Given the description of an element on the screen output the (x, y) to click on. 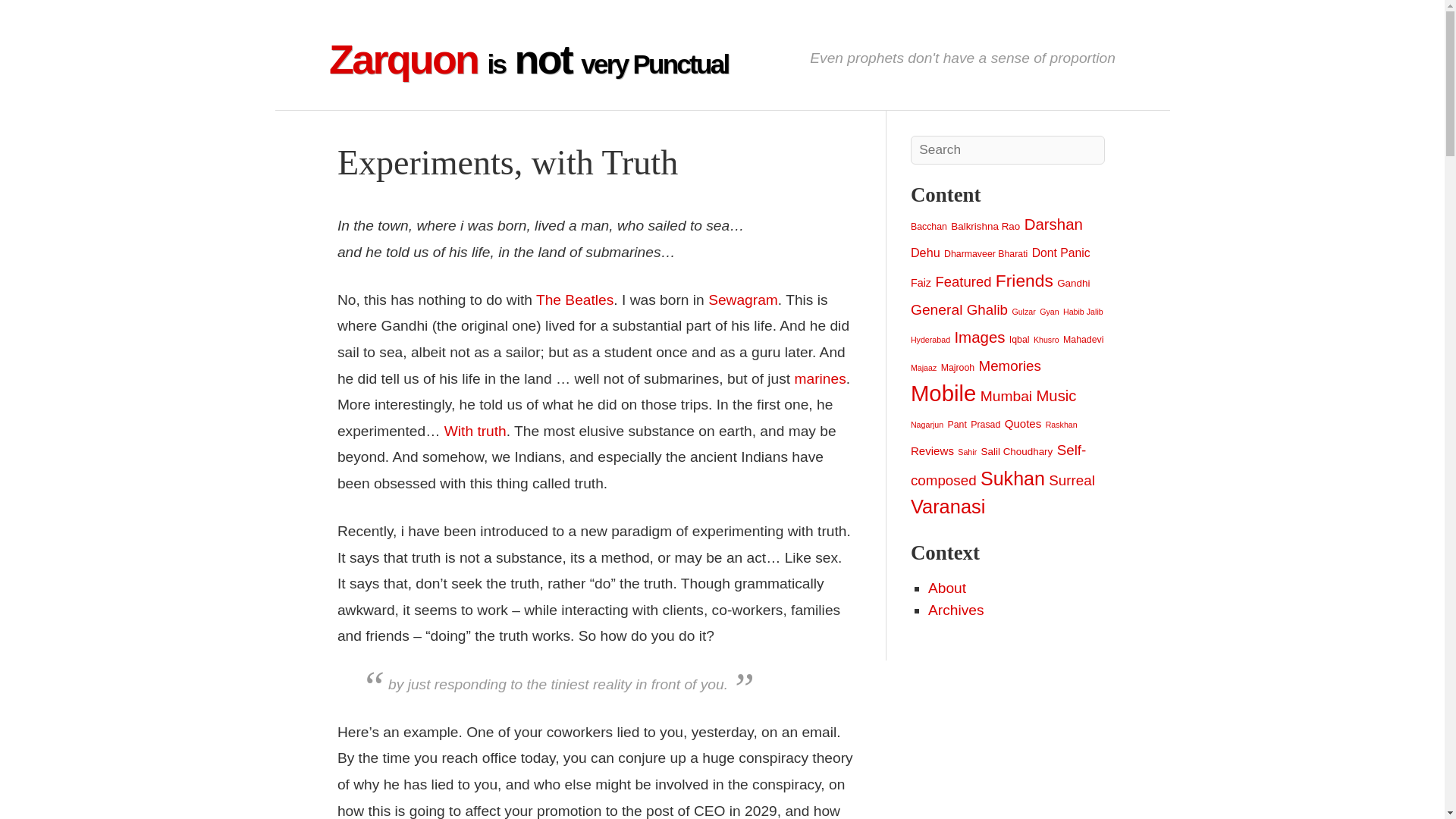
Sewagram (742, 299)
Experiments, with Truth (507, 162)
Yellow Submarine (573, 299)
Zarquon is not very punctual (528, 58)
With truth (475, 430)
The Beatles (573, 299)
marines (819, 377)
Permalink to Experiments, with Truth (507, 162)
Zarquon is not very Punctual (528, 58)
